Given the description of an element on the screen output the (x, y) to click on. 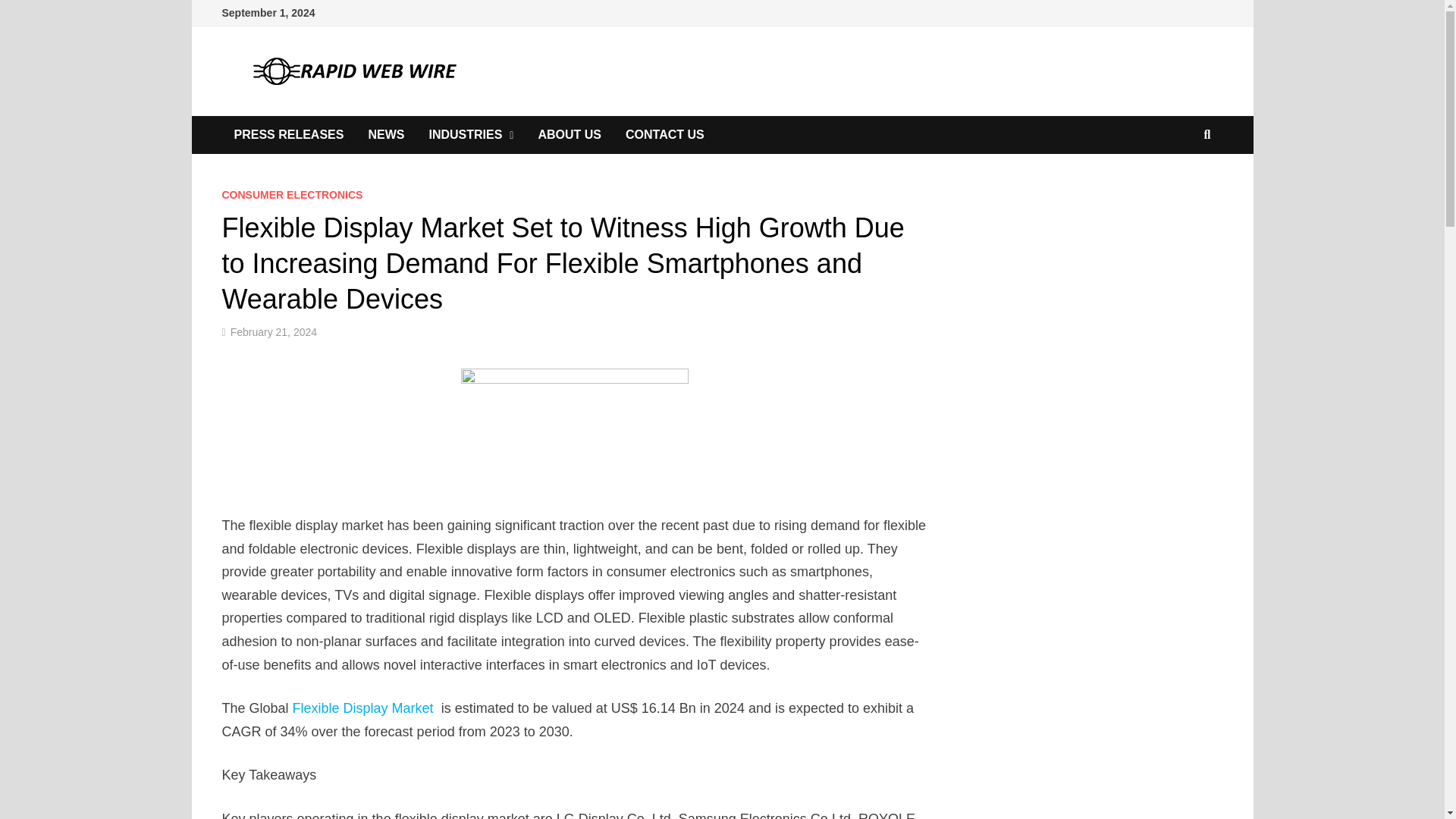
ABOUT US (568, 134)
INDUSTRIES (470, 134)
CONTACT US (664, 134)
NEWS (385, 134)
PRESS RELEASES (288, 134)
